Given the description of an element on the screen output the (x, y) to click on. 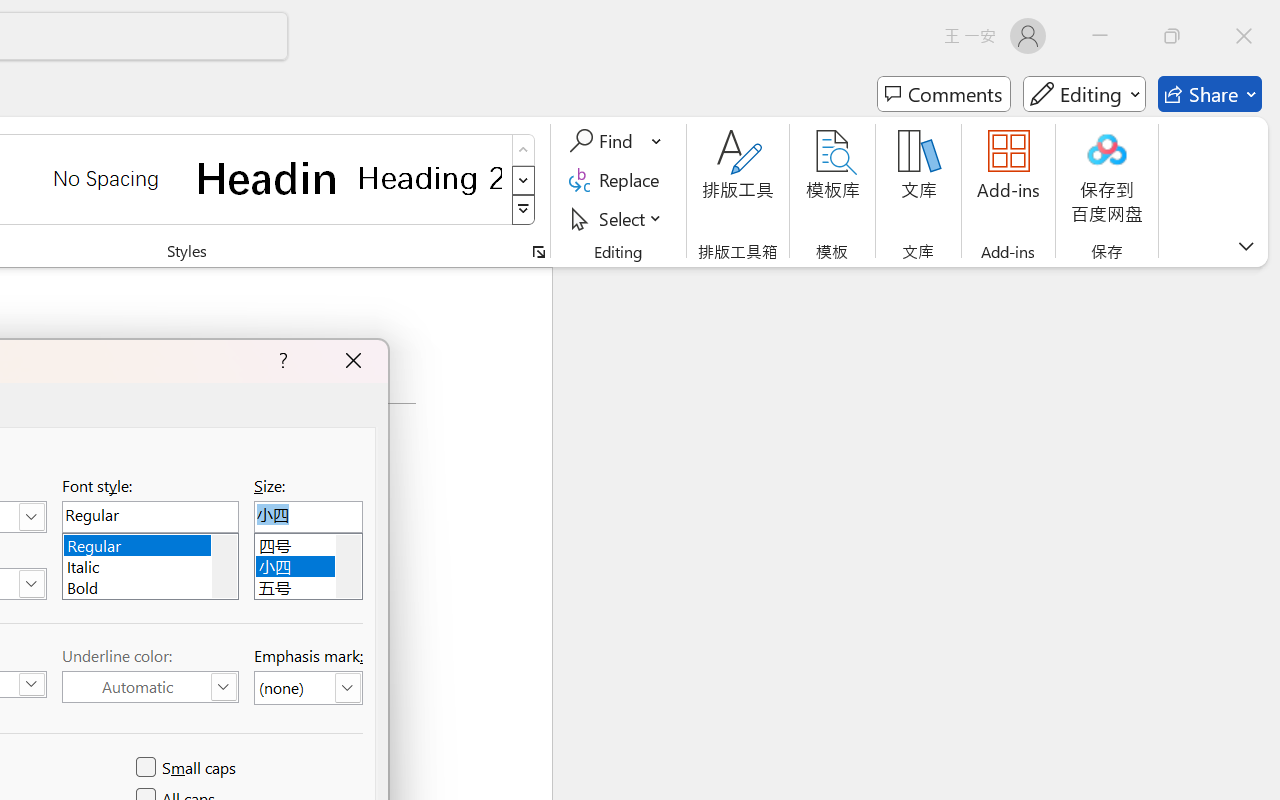
AutomationID: 1797 (347, 566)
Size: (308, 516)
Heading 2 (429, 178)
Font style: (150, 516)
Heading 1 (267, 178)
Row Down (523, 180)
